Given the description of an element on the screen output the (x, y) to click on. 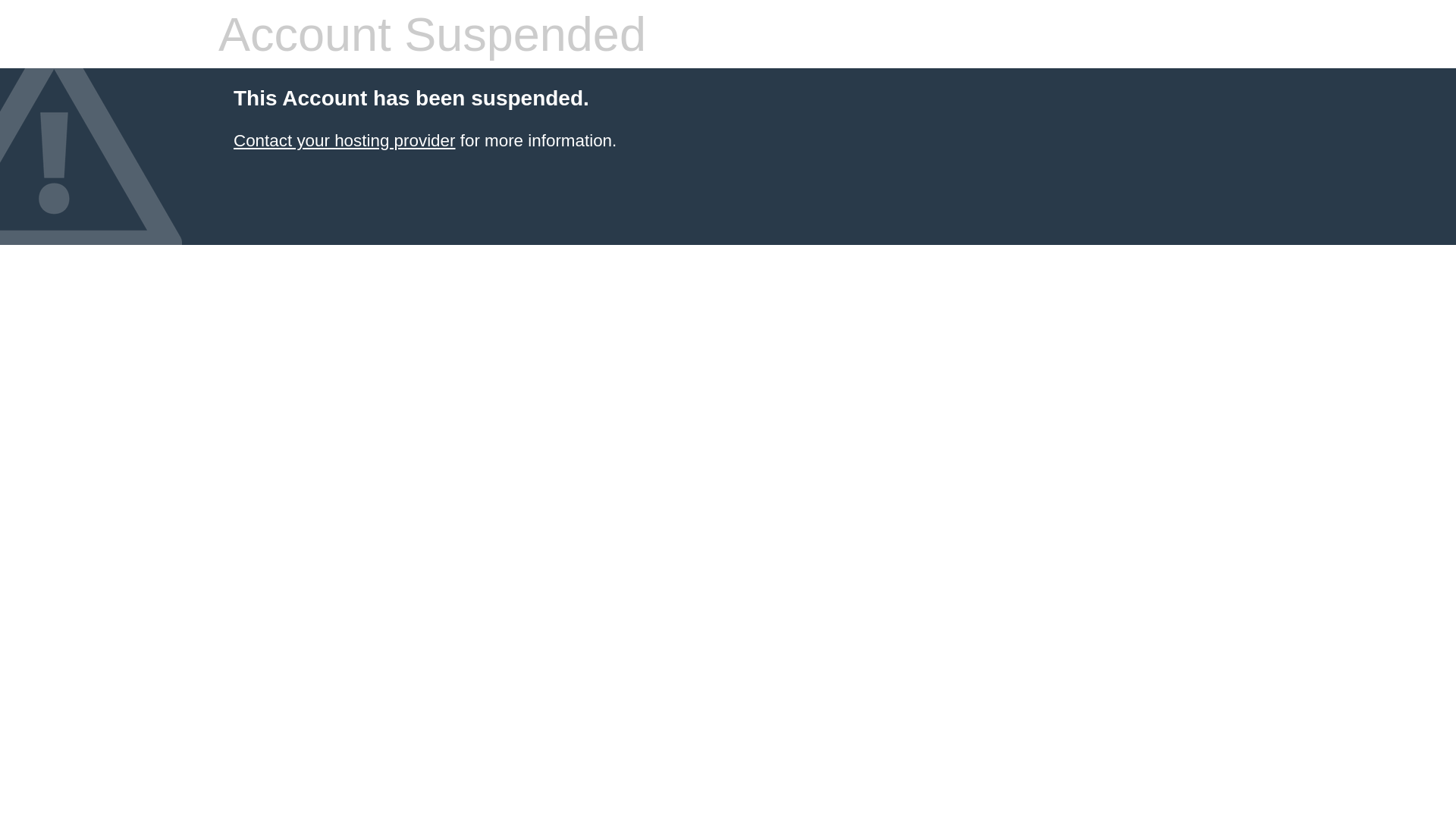
Contact your hosting provider Element type: text (344, 140)
